Given the description of an element on the screen output the (x, y) to click on. 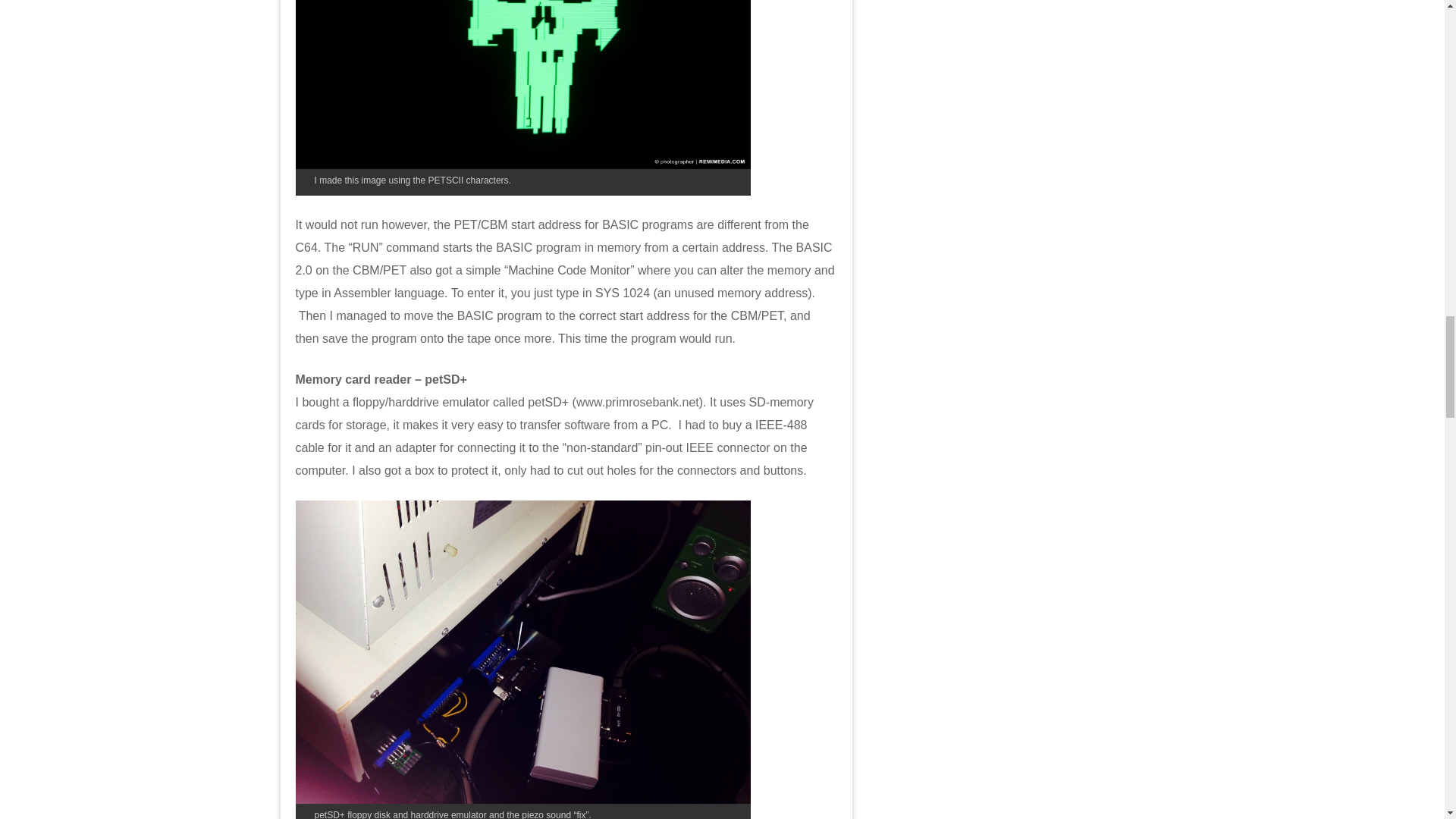
www.primrosebank.net (637, 401)
